Given the description of an element on the screen output the (x, y) to click on. 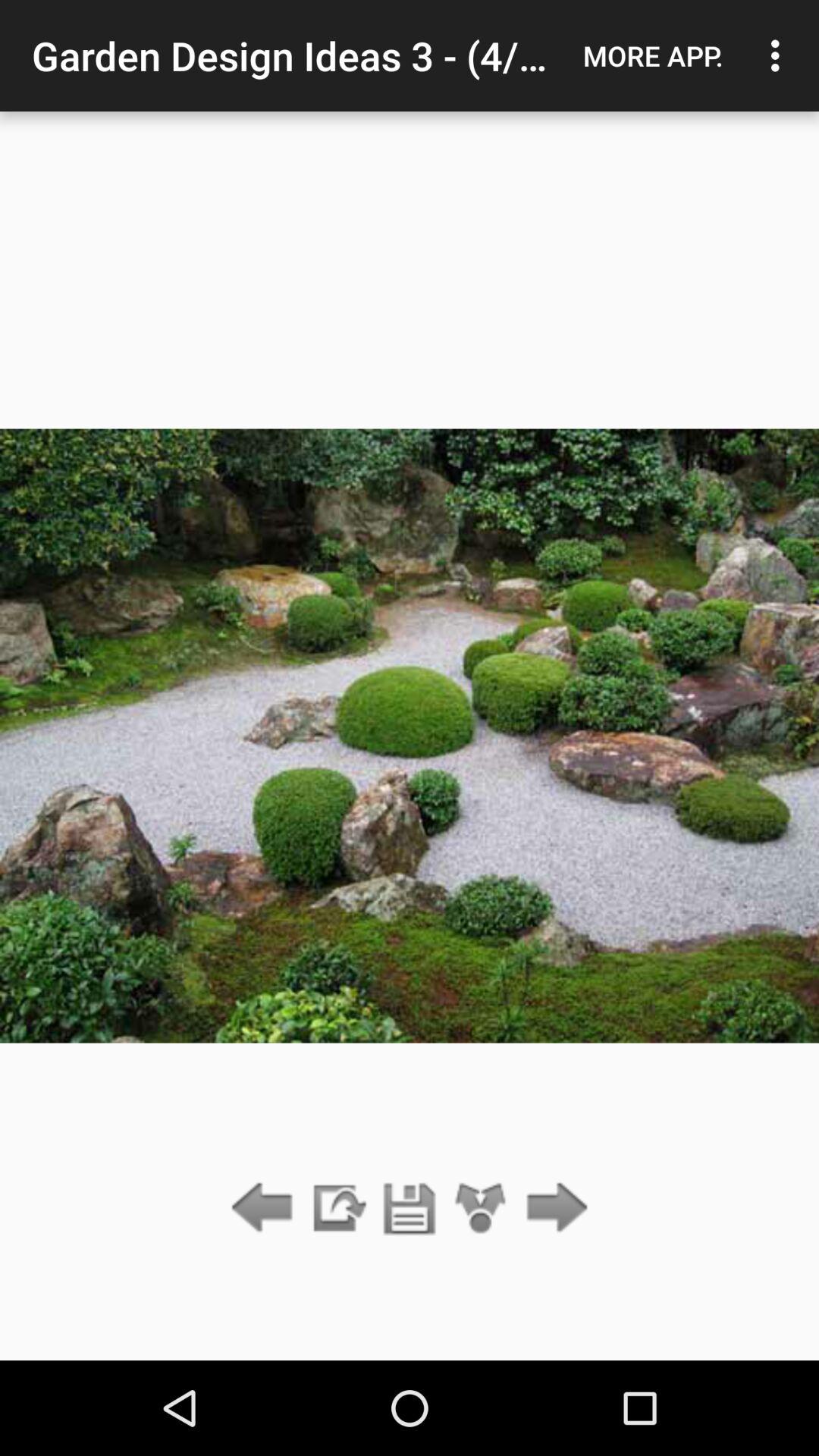
go forward (552, 1209)
